Given the description of an element on the screen output the (x, y) to click on. 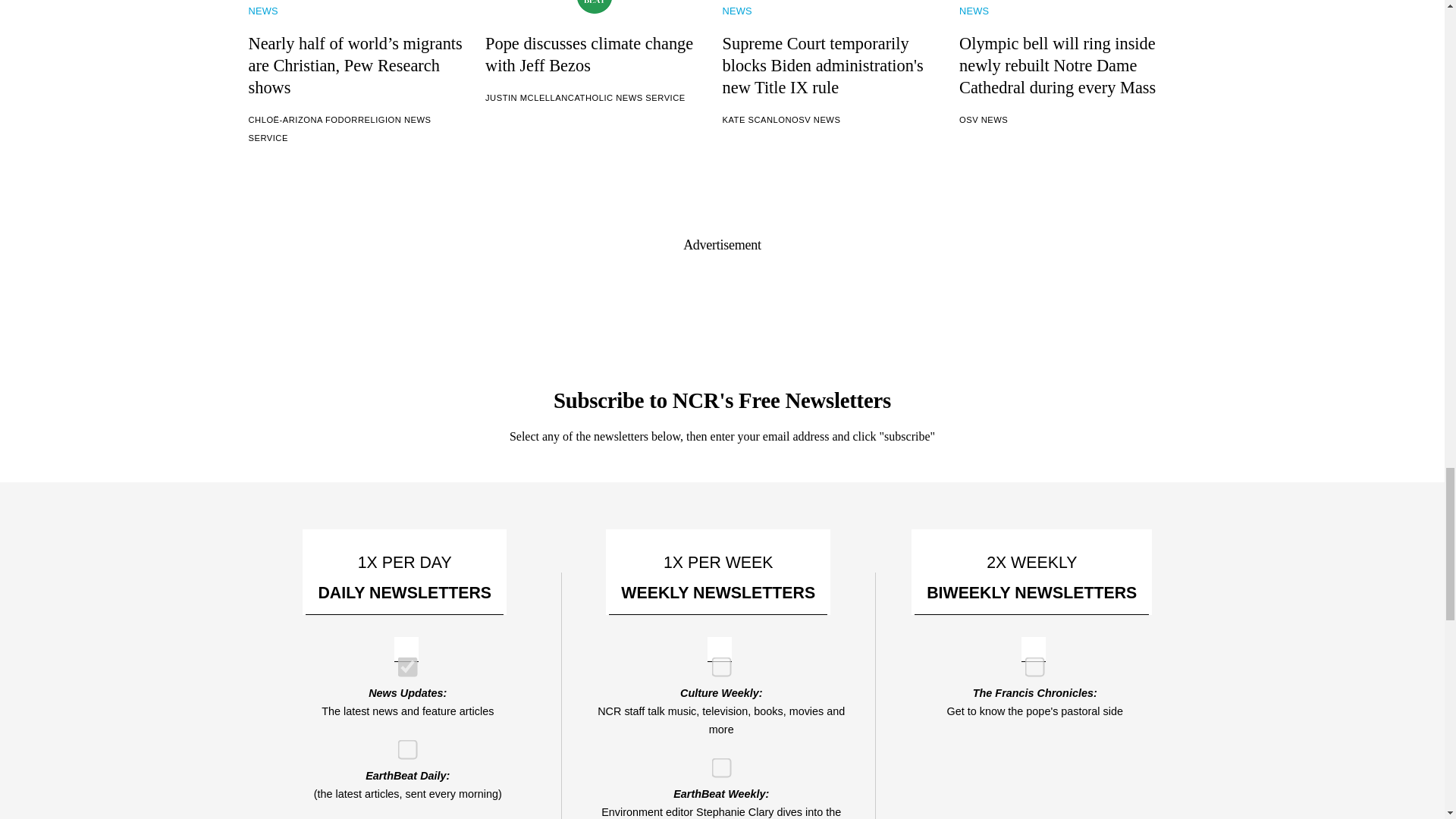
ef6500f2d3 (715, 763)
e536af3ae2 (715, 662)
f86221b965 (402, 662)
efa1b974a2 (402, 745)
9b73e2ca65 (1030, 662)
